Given the description of an element on the screen output the (x, y) to click on. 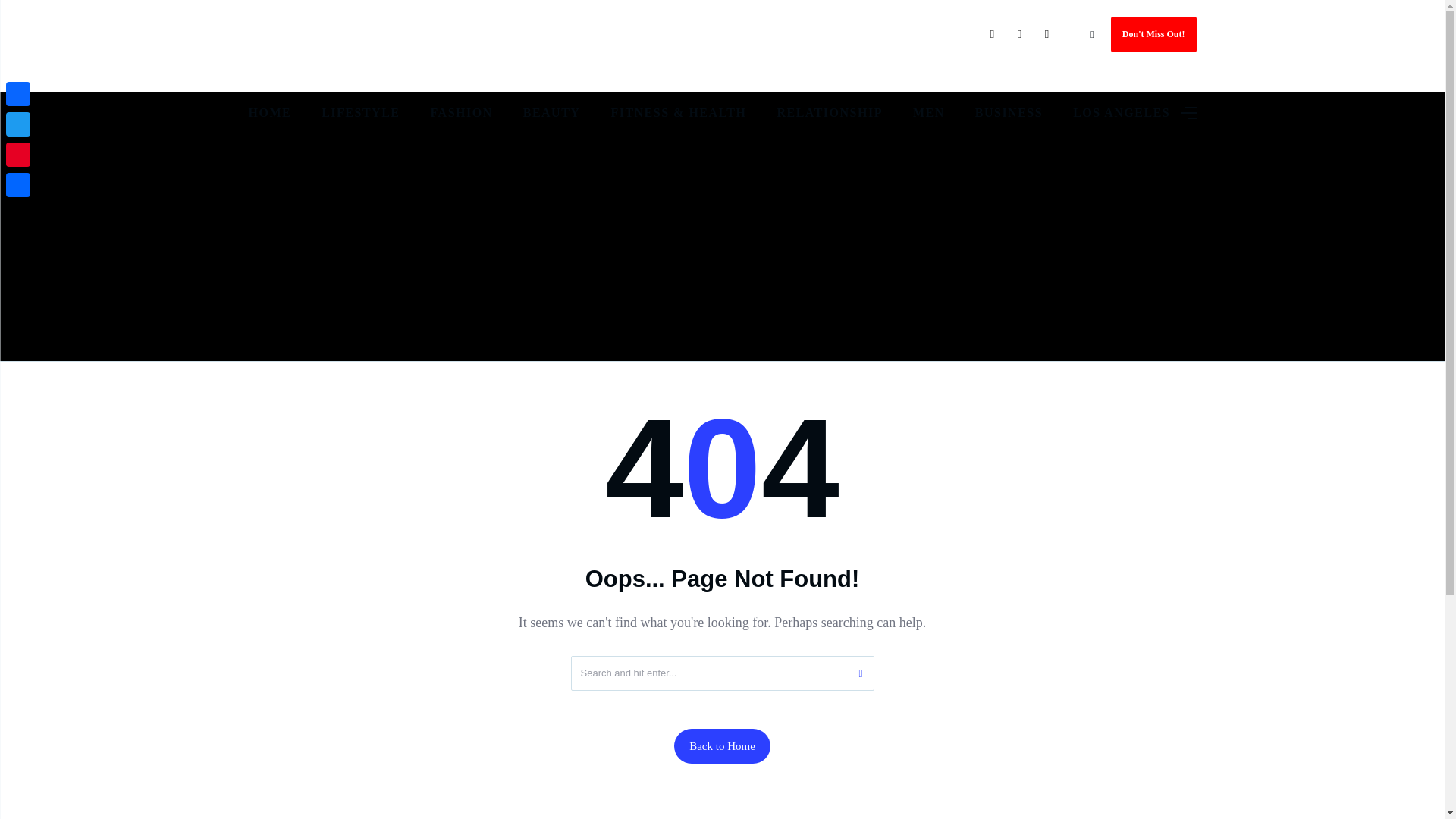
Facebook (17, 93)
Twitter (17, 123)
Pinterest (17, 154)
